Given the description of an element on the screen output the (x, y) to click on. 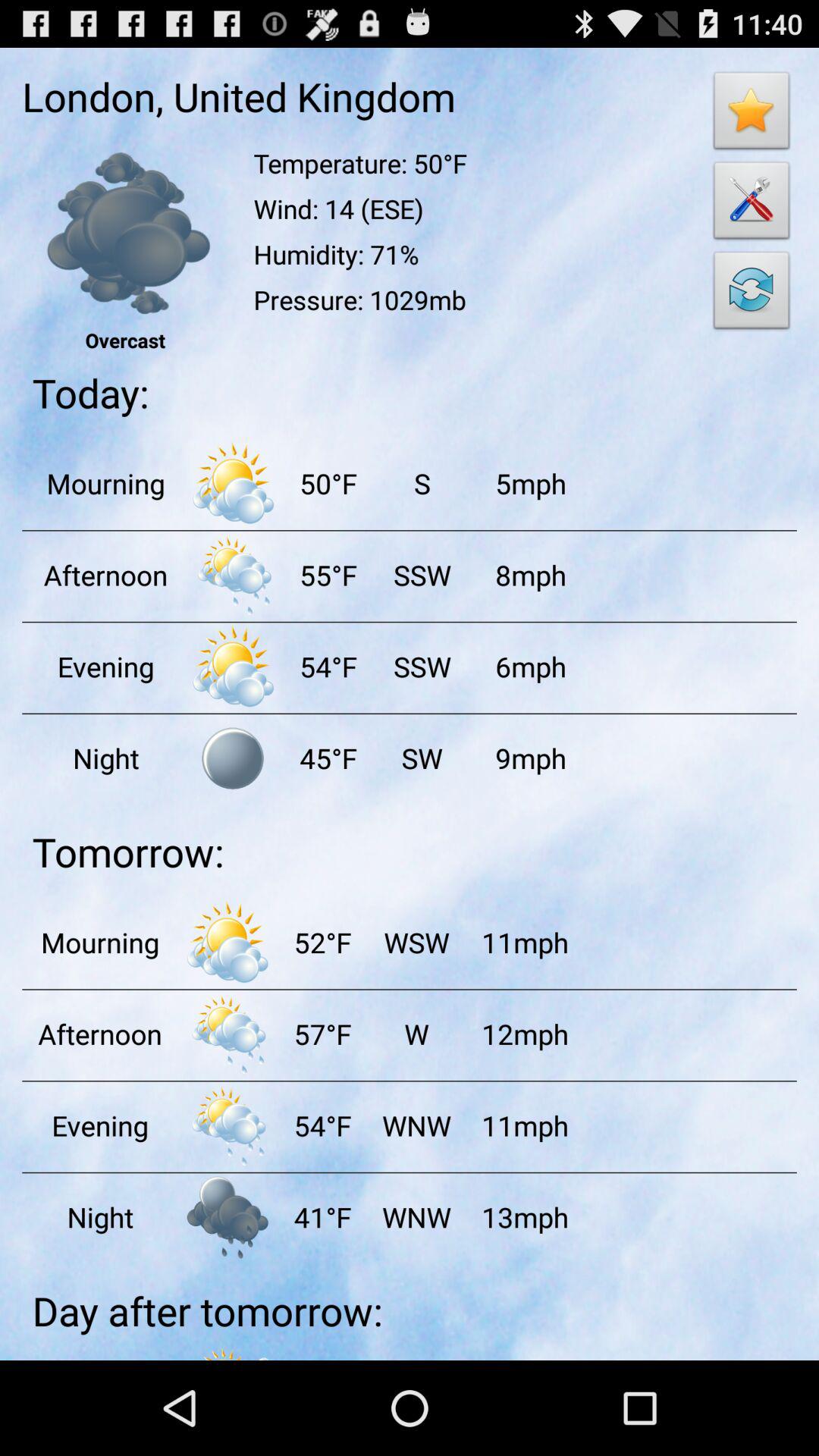
turn off item above the today: app (751, 294)
